Given the description of an element on the screen output the (x, y) to click on. 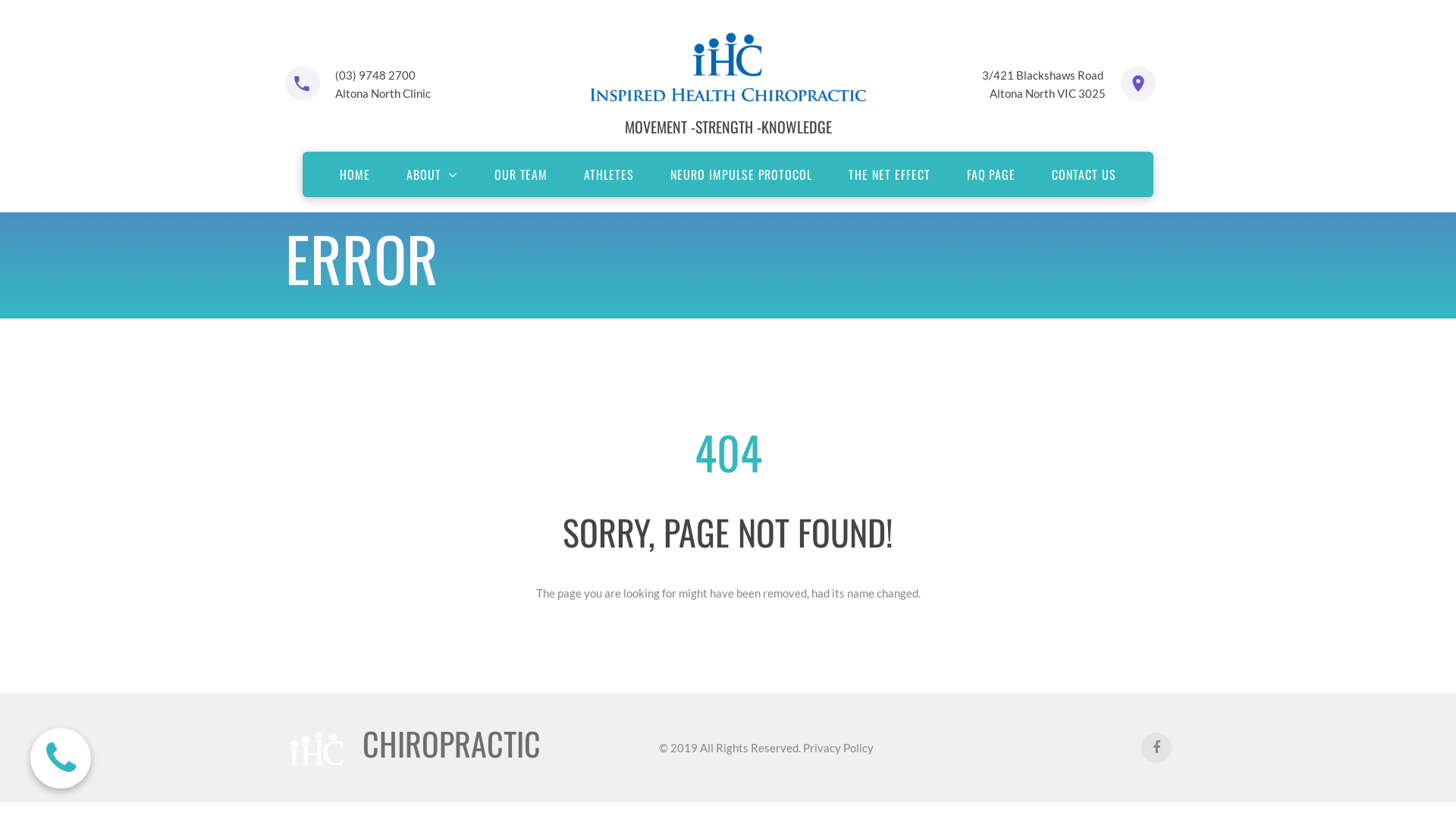
CONTACT US Element type: text (1083, 174)
HOME Element type: text (354, 174)
ABOUT Element type: text (432, 174)
FAQ PAGE Element type: text (991, 174)
Privacy Policy Element type: text (837, 747)
THE NET EFFECT Element type: text (888, 174)
(03) 9748 2700 Element type: text (375, 74)
NEURO IMPULSE PROTOCOL Element type: text (741, 174)
3/421 Blackshaws Road  Element type: text (1043, 74)
OUR TEAM Element type: text (521, 174)
CHIROPRACTIC Element type: text (451, 742)
ATHLETES Element type: text (608, 174)
